Given the description of an element on the screen output the (x, y) to click on. 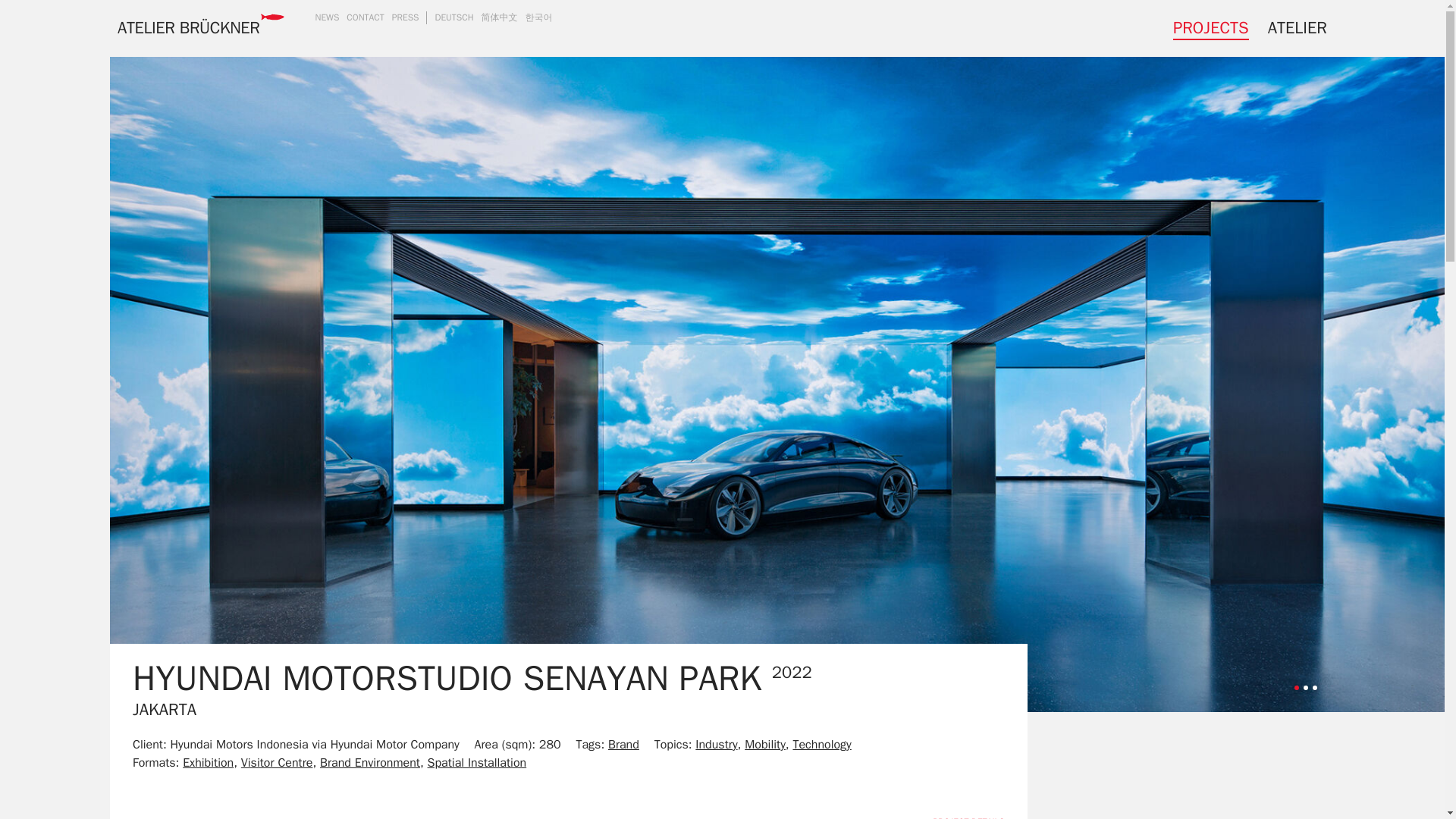
Brand (623, 744)
Visitor Centre (277, 762)
NEWS (326, 17)
ATELIER (1297, 28)
Technology (821, 744)
PROJECT DETAILS (968, 817)
Spatial Installation (477, 762)
Brand Environment (370, 762)
Industry (715, 744)
PRESS (405, 17)
